Given the description of an element on the screen output the (x, y) to click on. 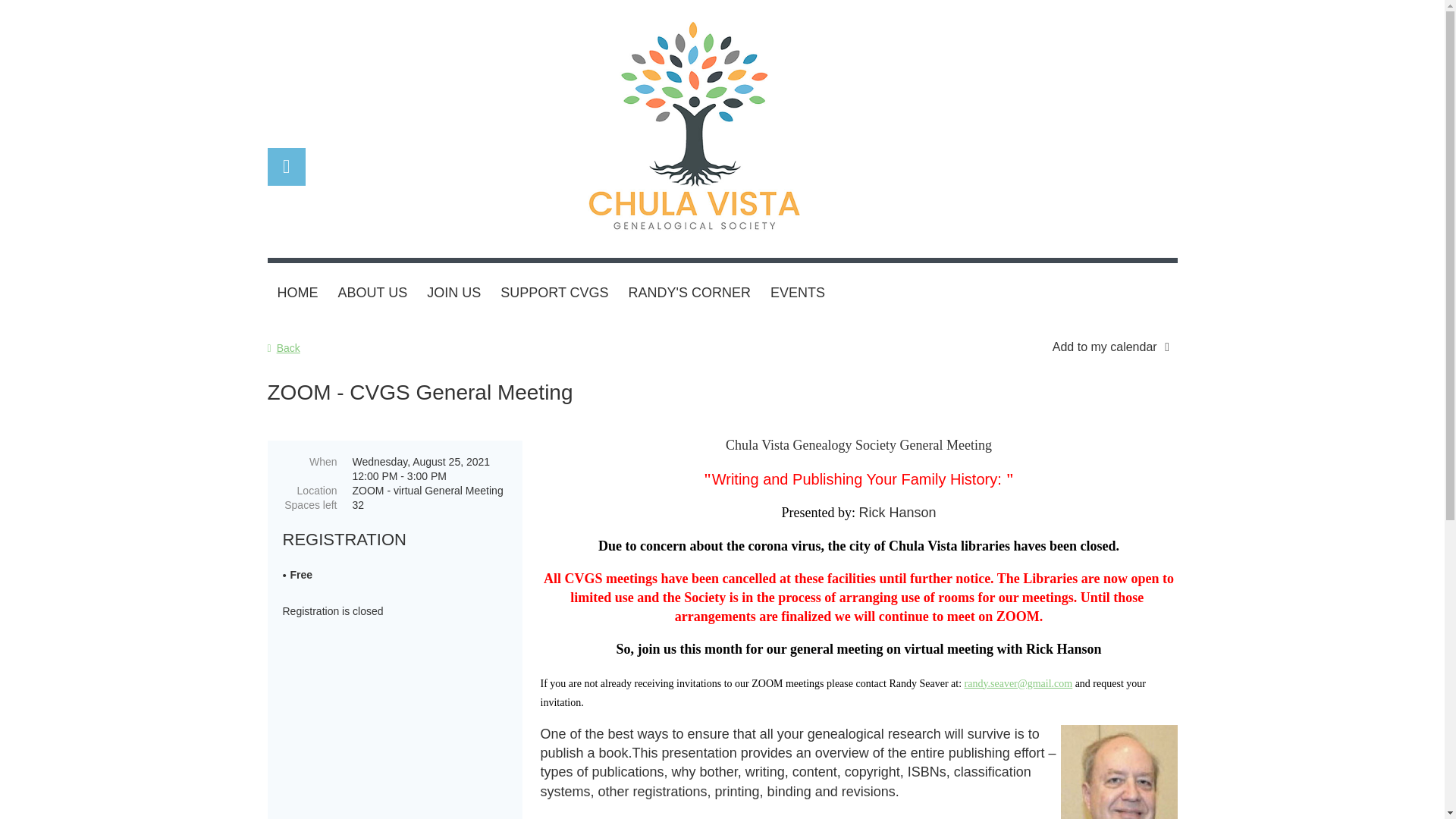
Back (282, 347)
HOME (296, 292)
JOIN US (453, 292)
Home (296, 292)
EVENTS (797, 292)
Support CVGS (553, 292)
Join us (453, 292)
SUPPORT CVGS (553, 292)
Log in (285, 166)
About Us (371, 292)
Log in (285, 166)
RANDY'S CORNER (689, 292)
Randy's Corner (689, 292)
Events (797, 292)
ABOUT US (371, 292)
